Given the description of an element on the screen output the (x, y) to click on. 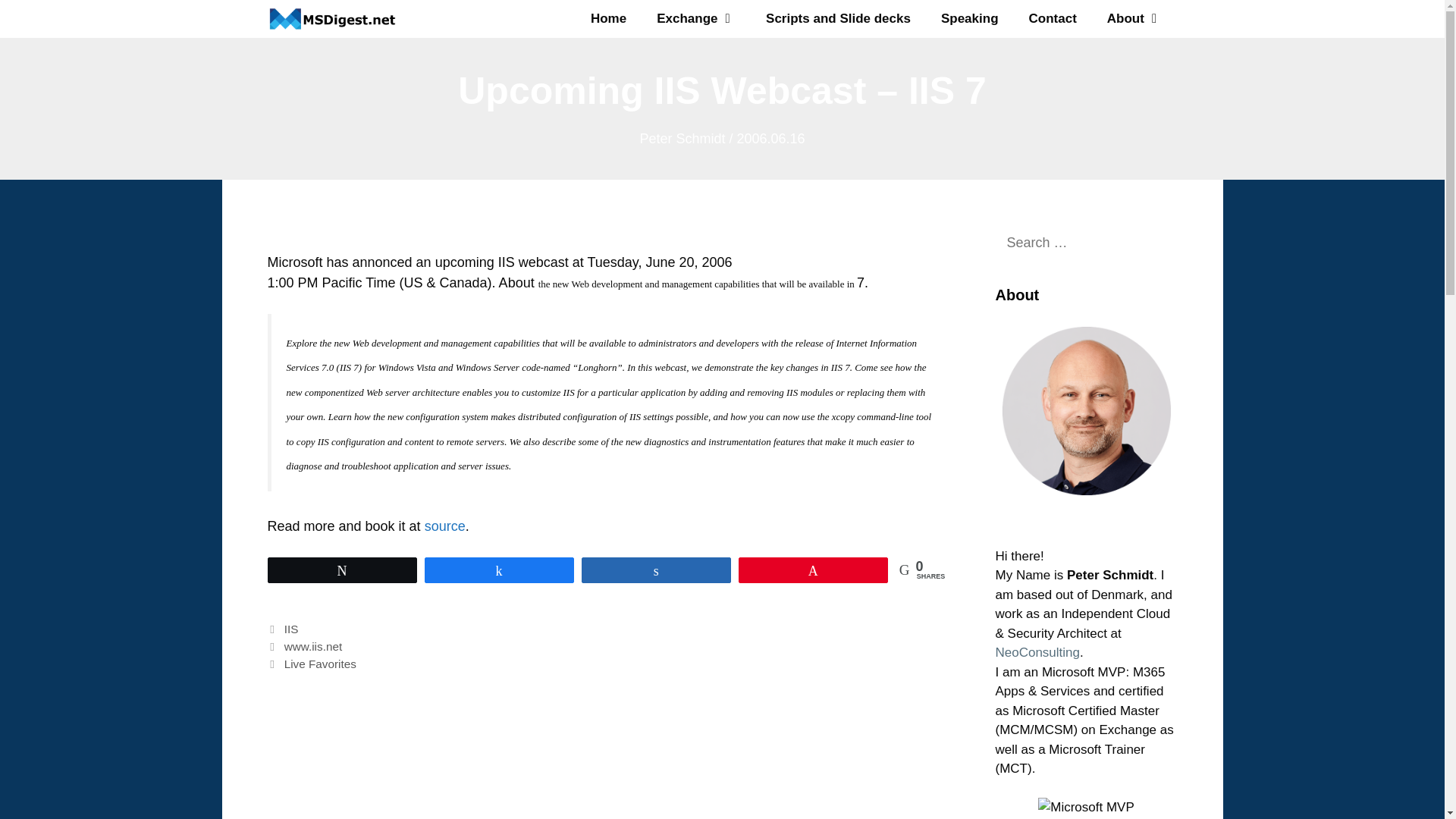
NeoConsulting (1037, 652)
Peter Schmidt (682, 138)
source (445, 525)
Home (608, 18)
Search (38, 18)
Exchange (696, 18)
Speaking (969, 18)
Scripts and Slide decks (838, 18)
Live Favorites (319, 663)
Contact (1052, 18)
About (1134, 18)
IIS (290, 628)
View all posts by Peter Schmidt (682, 138)
MSDigest.net (331, 18)
MSDigest.net (335, 18)
